Given the description of an element on the screen output the (x, y) to click on. 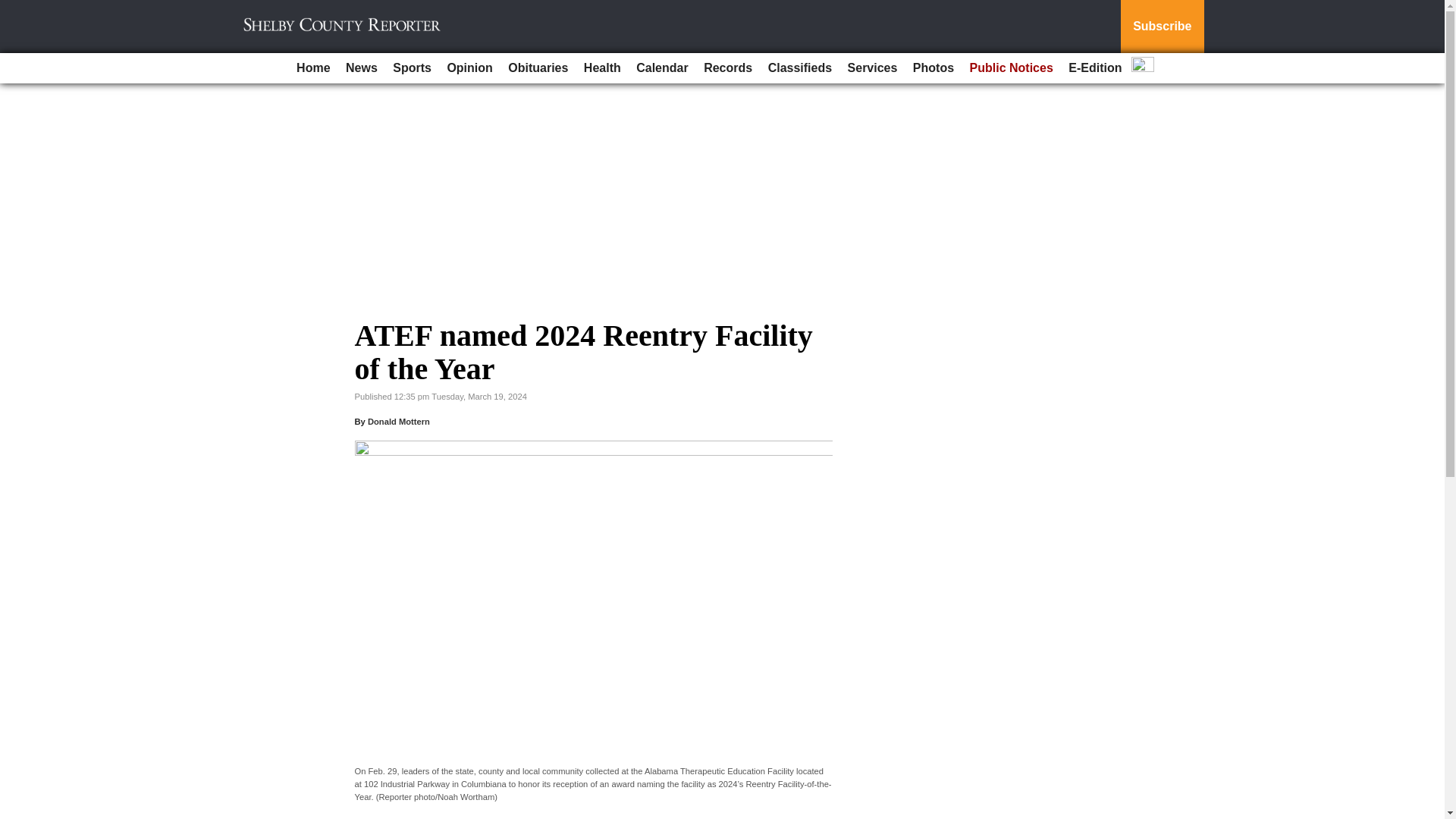
Obituaries (537, 68)
Services (872, 68)
Classifieds (799, 68)
Subscribe (1162, 26)
Health (602, 68)
Opinion (469, 68)
Sports (412, 68)
News (361, 68)
Records (727, 68)
Home (312, 68)
Calendar (662, 68)
